Given the description of an element on the screen output the (x, y) to click on. 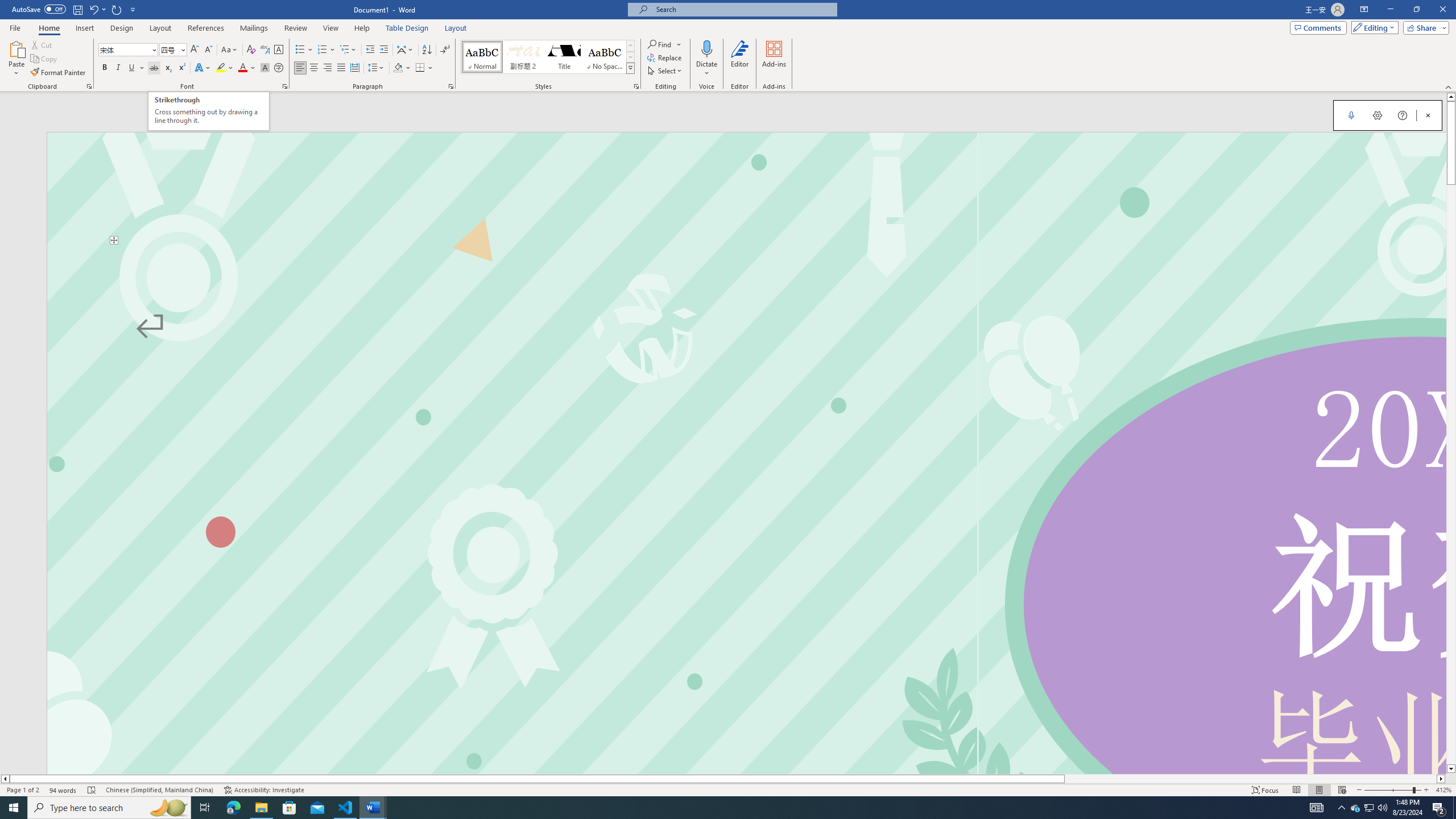
Font Color Red (241, 67)
Page 1 content (745, 508)
